Given the description of an element on the screen output the (x, y) to click on. 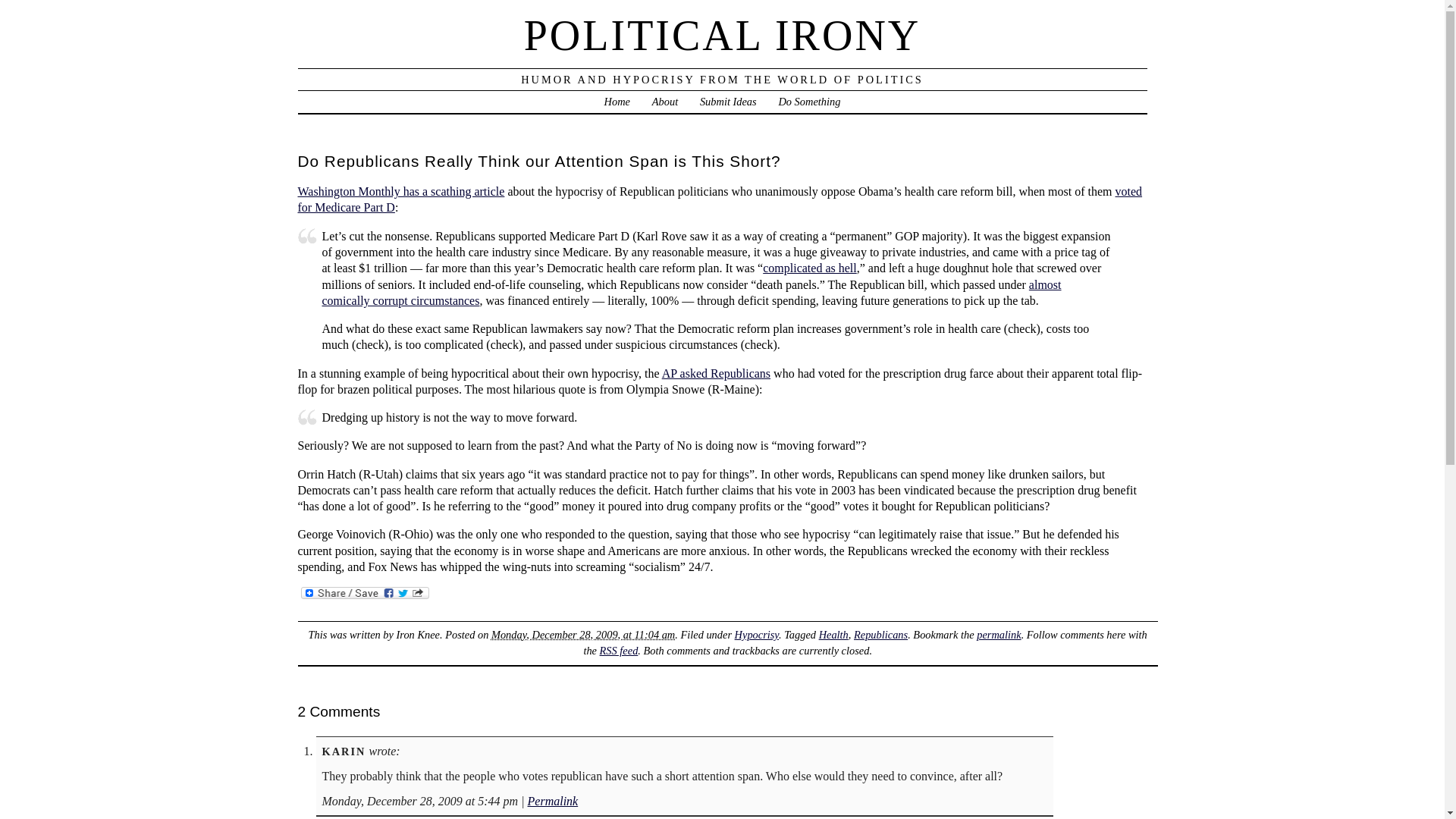
2009-12-28T11:04:47-0600 (583, 634)
Permalink to this comment (552, 800)
permalink (998, 634)
Permalink (552, 800)
Health (833, 634)
Washington Monthly has a scathing article (400, 191)
complicated as hell (809, 267)
Do Something (808, 101)
almost comically corrupt circumstances (691, 292)
Submit Ideas (728, 101)
Political Irony (722, 35)
POLITICAL IRONY (722, 35)
voted for Medicare Part D (719, 199)
